Given the description of an element on the screen output the (x, y) to click on. 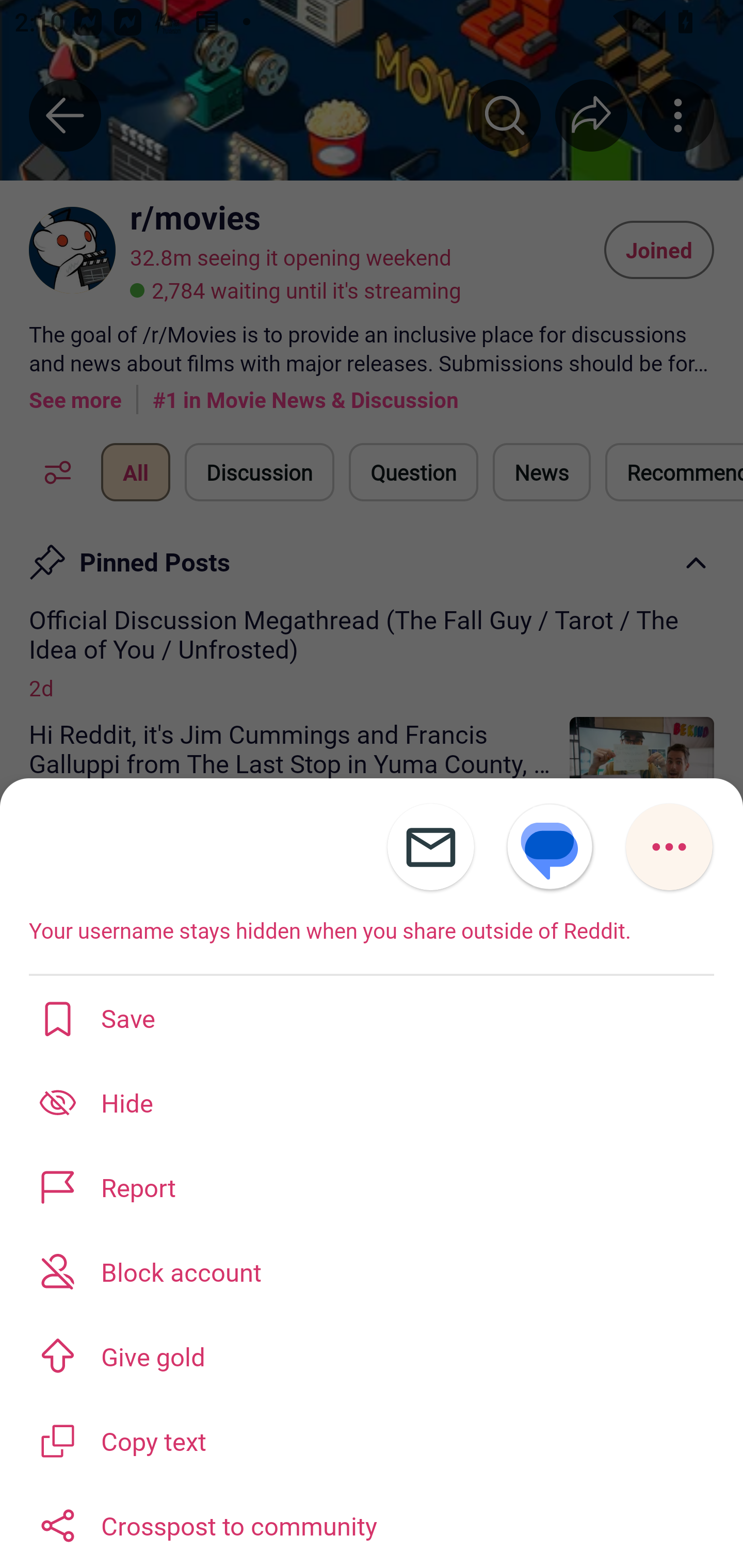
Email (430, 847)
SMS (549, 847)
More (669, 847)
Save (371, 1017)
Hide (371, 1101)
Report (371, 1186)
Block account (371, 1271)
Give gold (371, 1355)
Copy text (371, 1439)
Home (80, 1520)
Communities (225, 1520)
Create a post Create (370, 1520)
Chat (516, 1520)
Inbox, has 1 notification 1 Inbox (662, 1520)
